Given the description of an element on the screen output the (x, y) to click on. 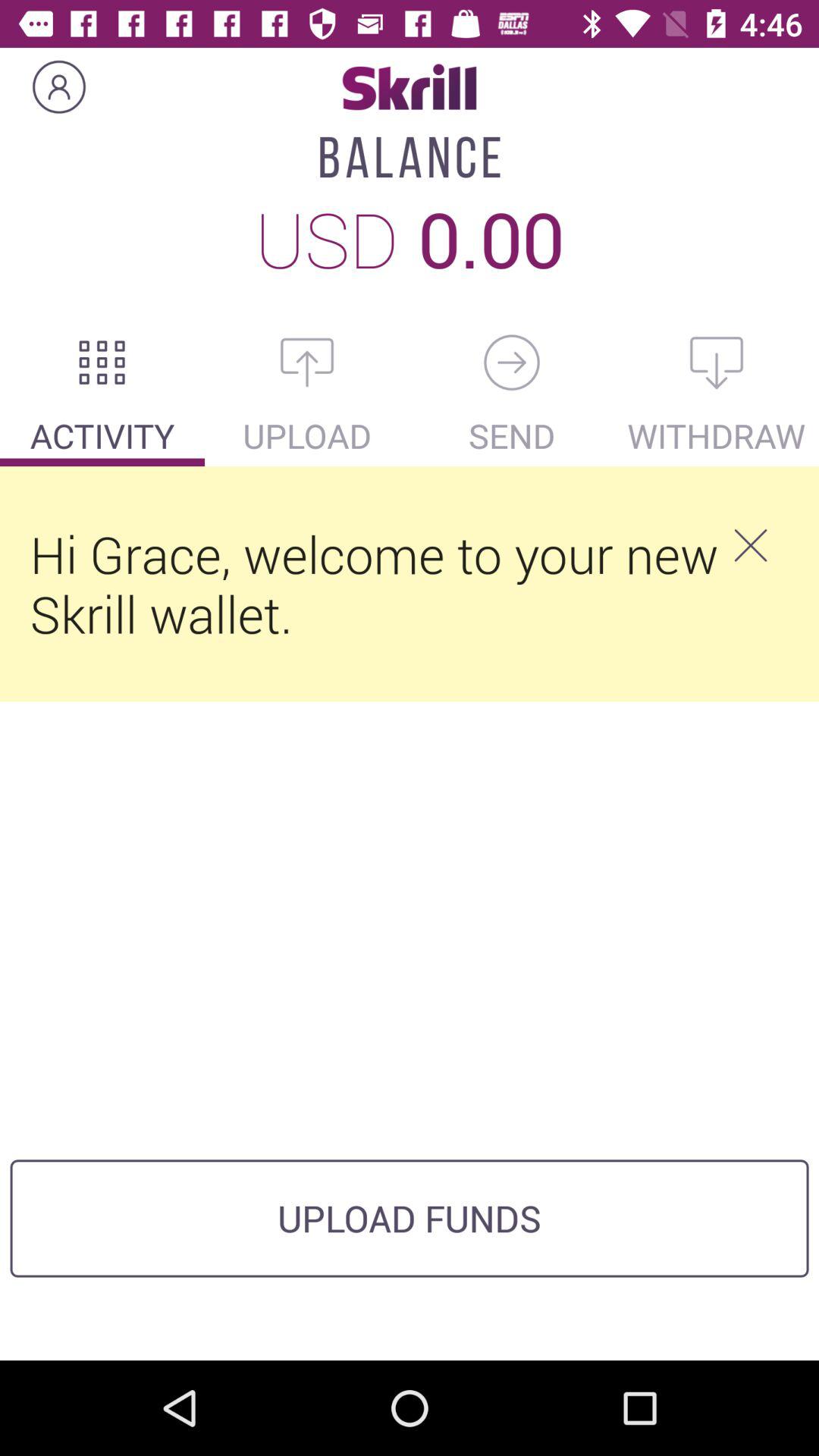
open item above send item (511, 362)
